Given the description of an element on the screen output the (x, y) to click on. 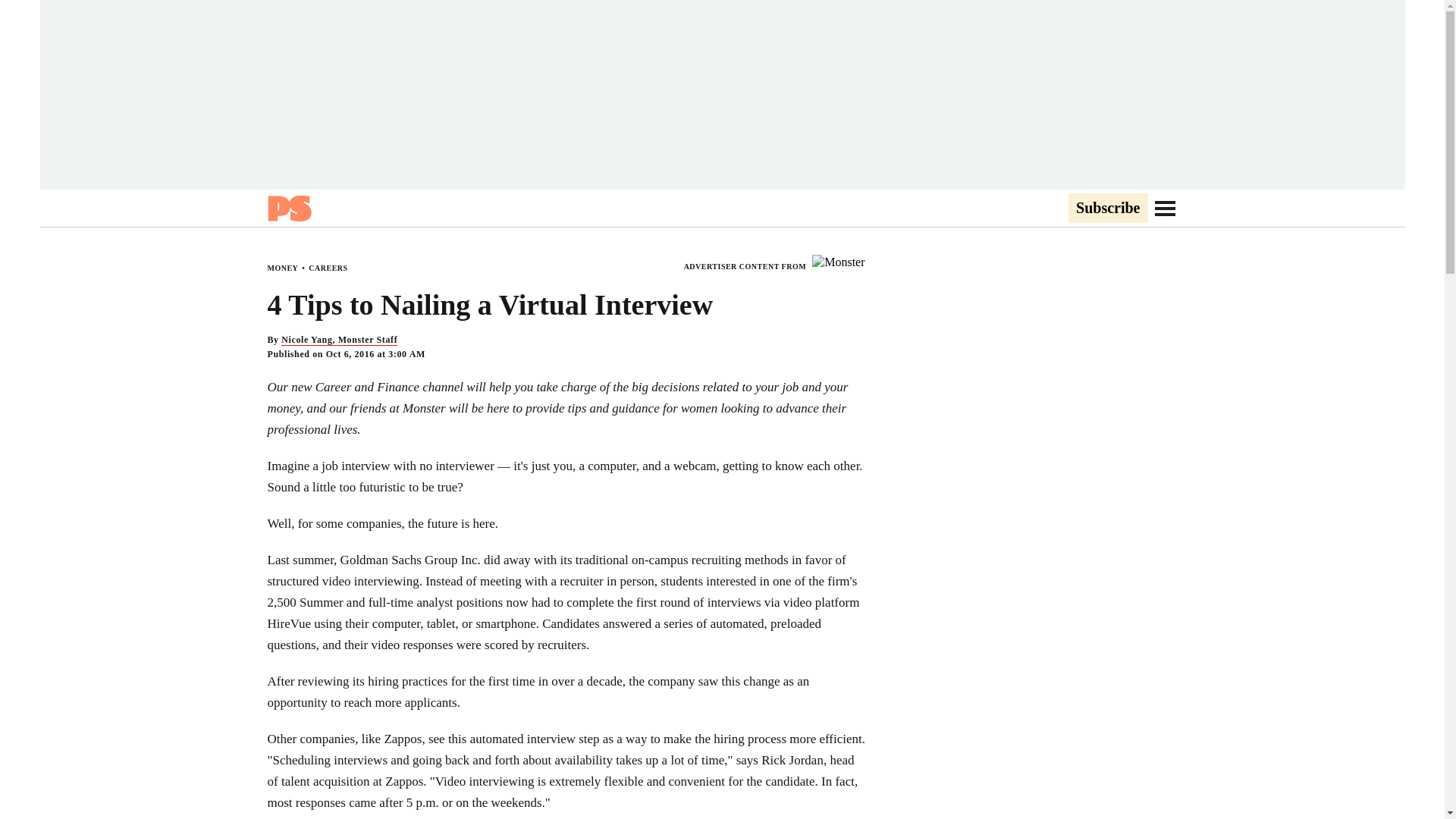
Subscribe (1107, 208)
Popsugar (288, 208)
Nicole Yang, Monster Staff (339, 339)
Go to Navigation (1164, 207)
CAREERS (327, 267)
Go to Navigation (1164, 207)
MONEY (282, 267)
